Given the description of an element on the screen output the (x, y) to click on. 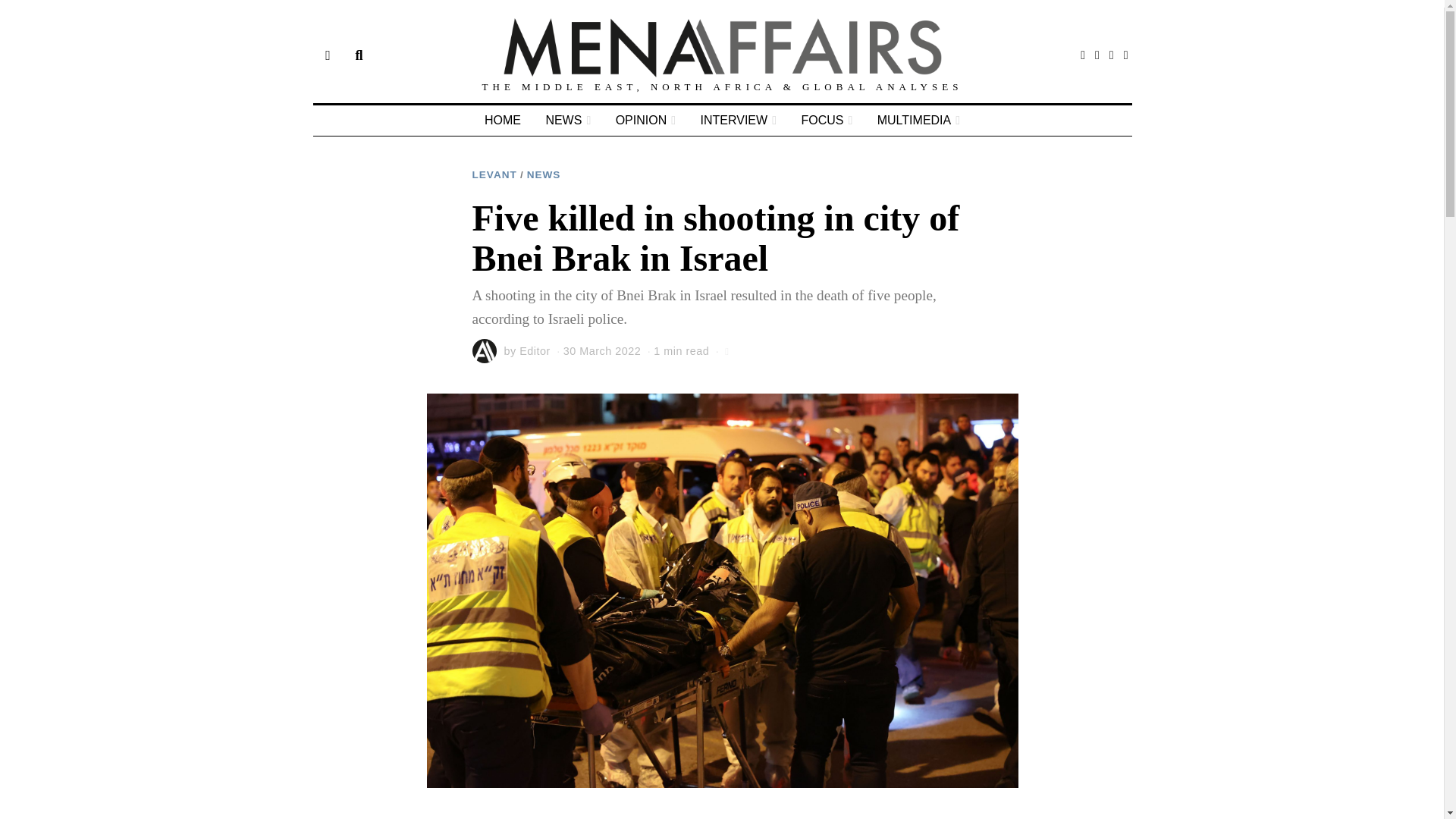
LEVANT (493, 174)
HOME (502, 120)
NEWS (567, 120)
MULTIMEDIA (918, 120)
FOCUS (826, 120)
INTERVIEW (738, 120)
NEWS (543, 174)
OPINION (645, 120)
Editor (534, 350)
